Given the description of an element on the screen output the (x, y) to click on. 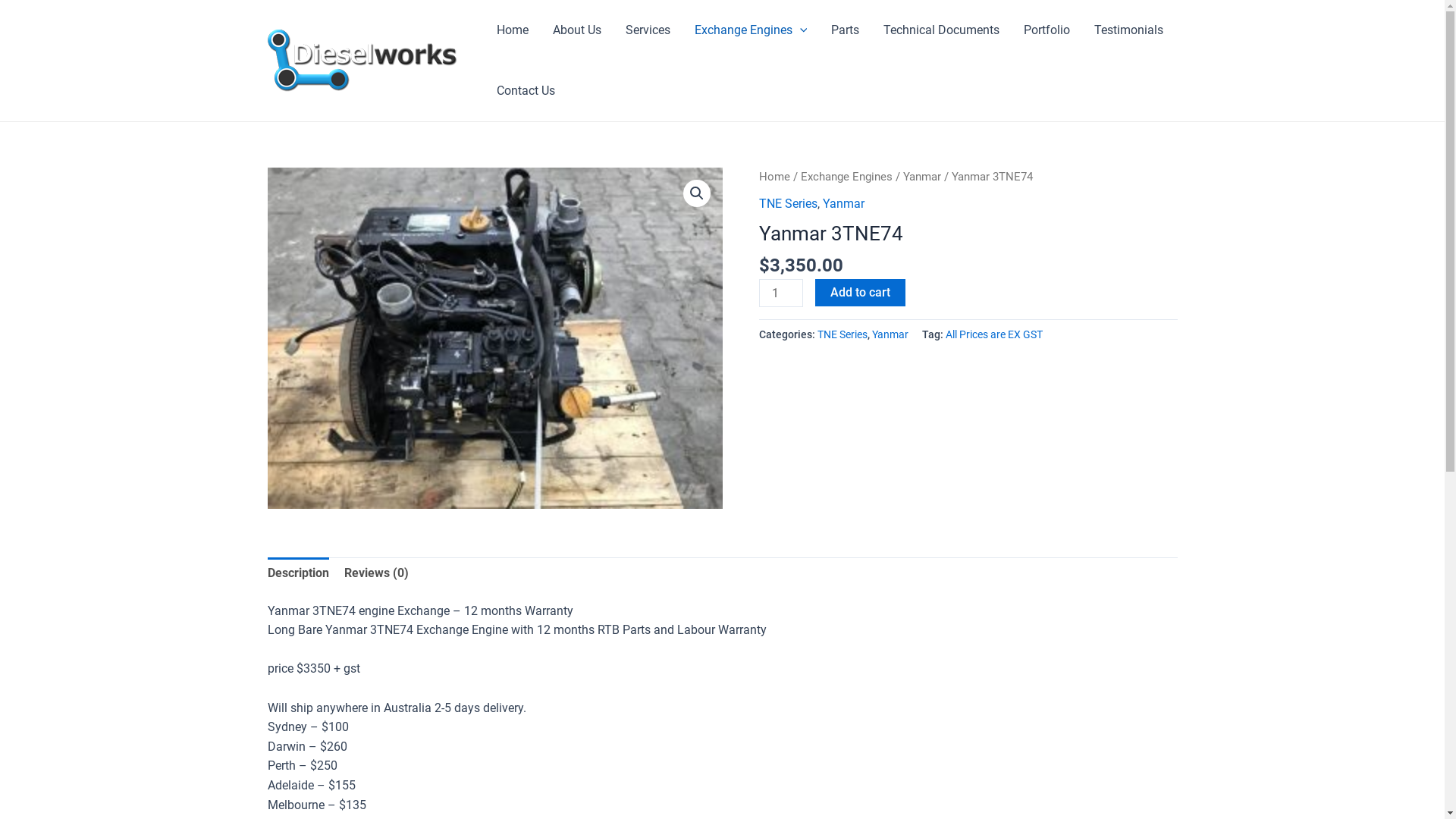
Services Element type: text (646, 30)
Home Element type: text (511, 30)
Description Element type: text (297, 573)
Yanmar Element type: text (921, 176)
Contact Us Element type: text (524, 90)
Testimonials Element type: text (1128, 30)
Yanmar Element type: text (842, 203)
Qty Element type: hover (780, 293)
TNE Series Element type: text (842, 334)
Portfolio Element type: text (1046, 30)
Technical Documents Element type: text (941, 30)
TNE Series Element type: text (787, 203)
About Us Element type: text (575, 30)
Reviews (0) Element type: text (376, 573)
Yanmar Element type: text (890, 334)
Parts Element type: text (845, 30)
All Prices are EX GST Element type: text (992, 334)
Exchange Engines Element type: text (846, 176)
yanmar-3tne74 Element type: hover (493, 337)
Exchange Engines Element type: text (750, 30)
Home Element type: text (773, 176)
Add to cart Element type: text (860, 292)
